Given the description of an element on the screen output the (x, y) to click on. 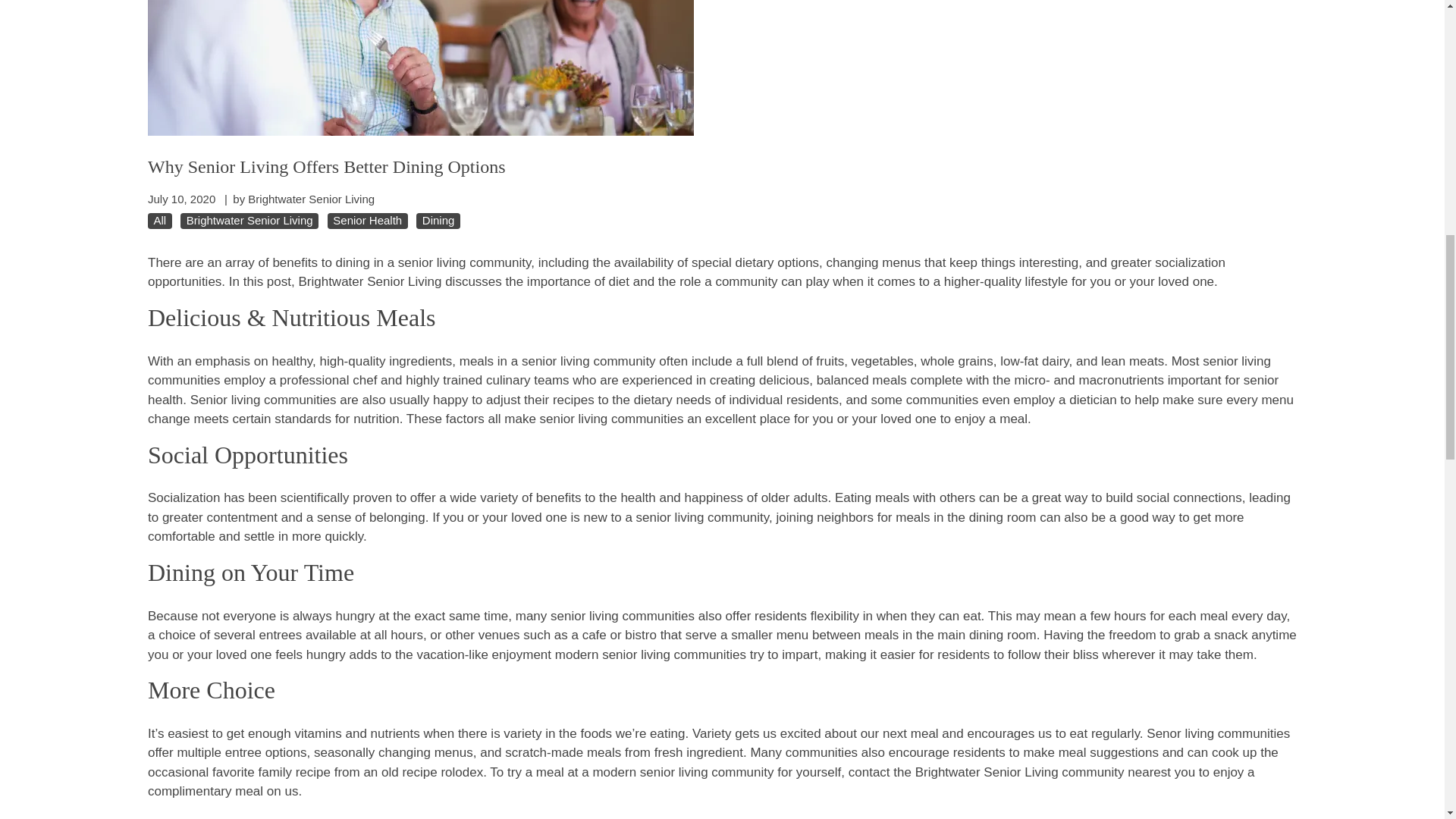
Senior Health (367, 220)
All (159, 220)
Brightwater Senior Living (249, 220)
micro- and macronutrients important for senior health (713, 390)
scientifically proven (336, 497)
Dining (438, 220)
Brightwater Senior Living community nearest you (1055, 771)
